Given the description of an element on the screen output the (x, y) to click on. 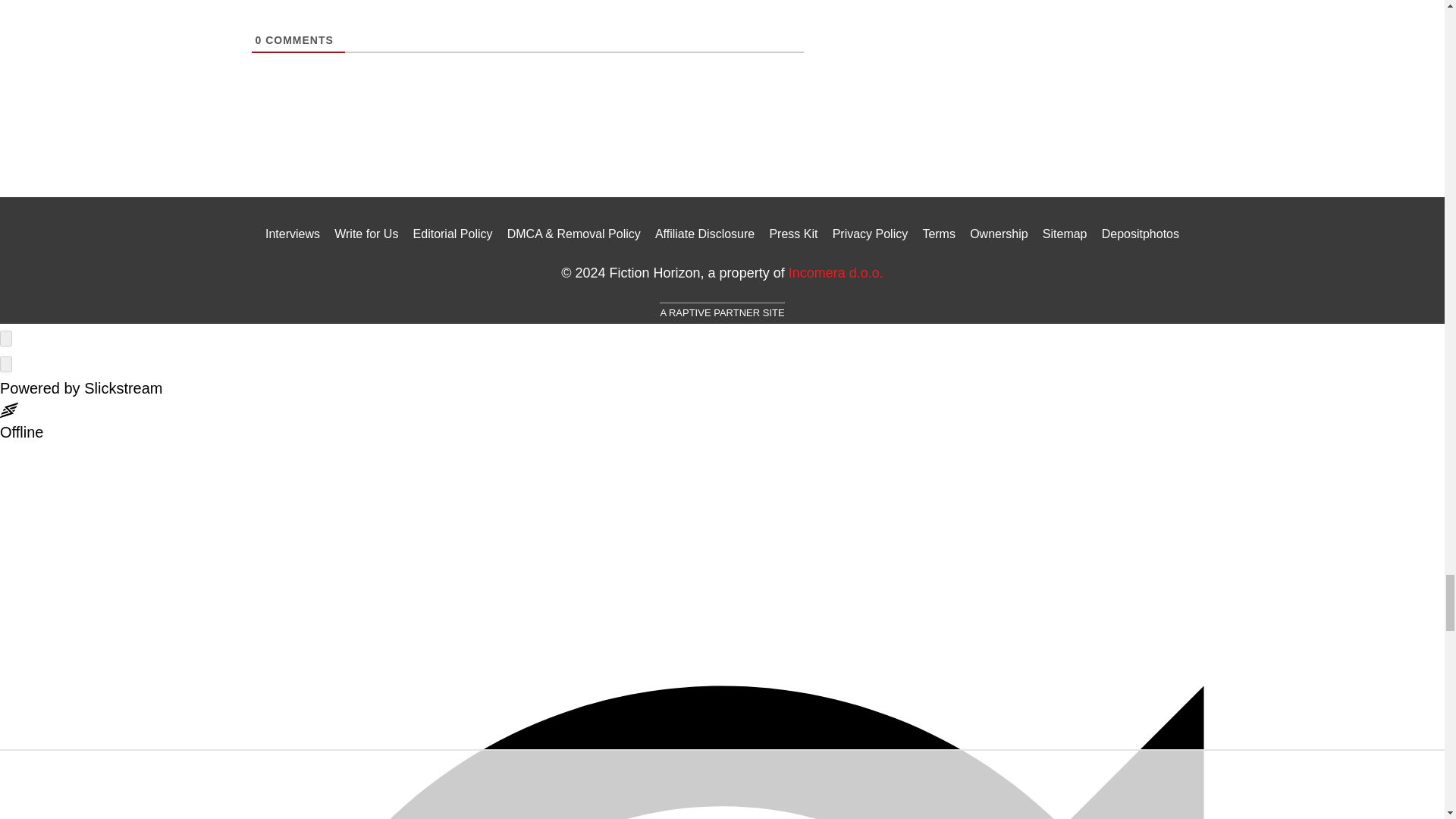
0 (258, 39)
Incomera d.o.o. (836, 272)
